Given the description of an element on the screen output the (x, y) to click on. 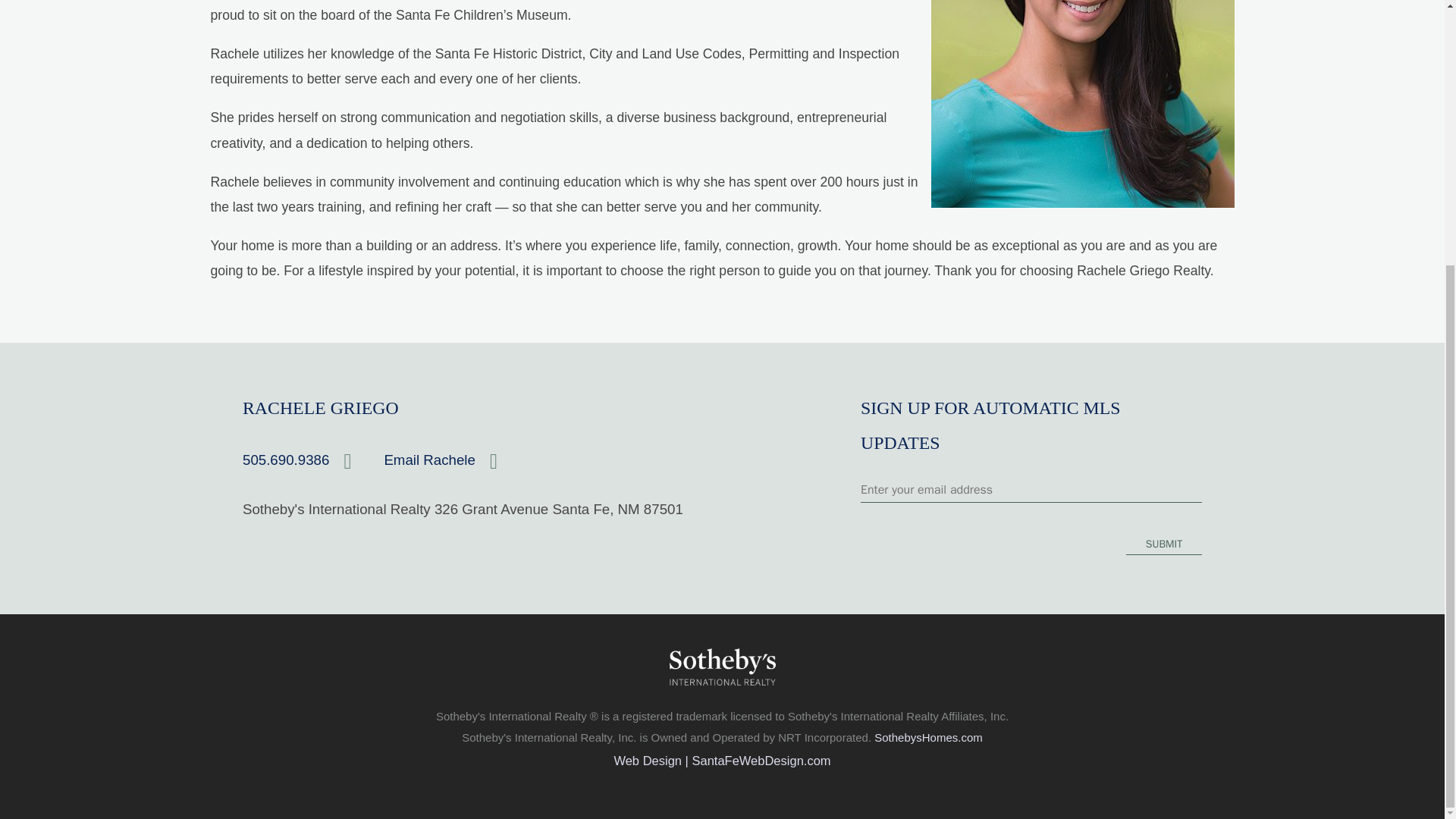
submit (1163, 544)
submit (1163, 544)
Email Rachele (454, 459)
505.690.9386 (313, 459)
SothebysHomes.com (928, 737)
